Given the description of an element on the screen output the (x, y) to click on. 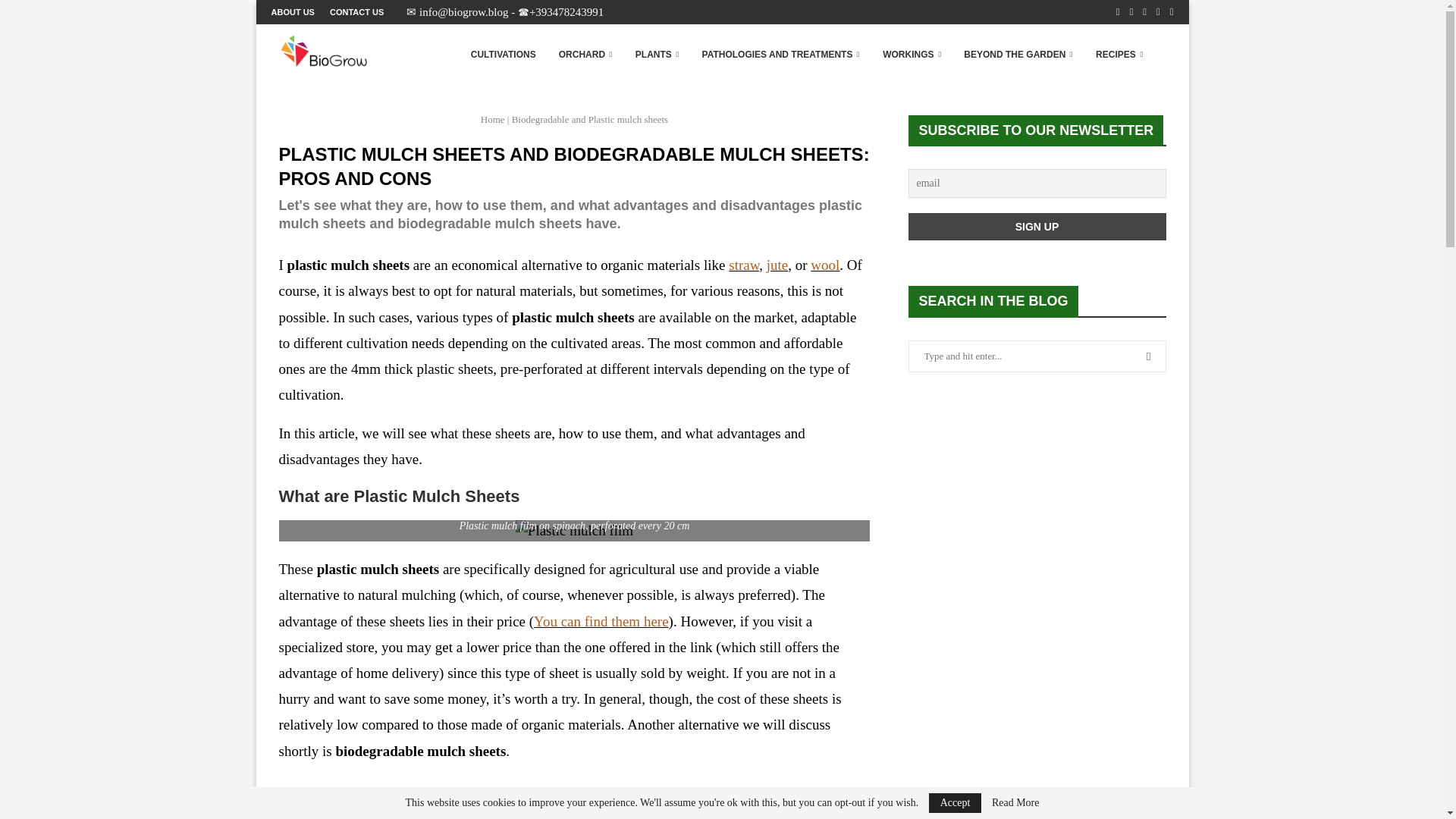
CULTIVATIONS (502, 55)
sign up (1037, 226)
BEYOND THE GARDEN (1018, 55)
PATHOLOGIES AND TREATMENTS (780, 55)
ORCHARD (585, 55)
WORKINGS (911, 55)
Home (492, 119)
CONTACT US (357, 12)
ABOUT US (292, 12)
